Given the description of an element on the screen output the (x, y) to click on. 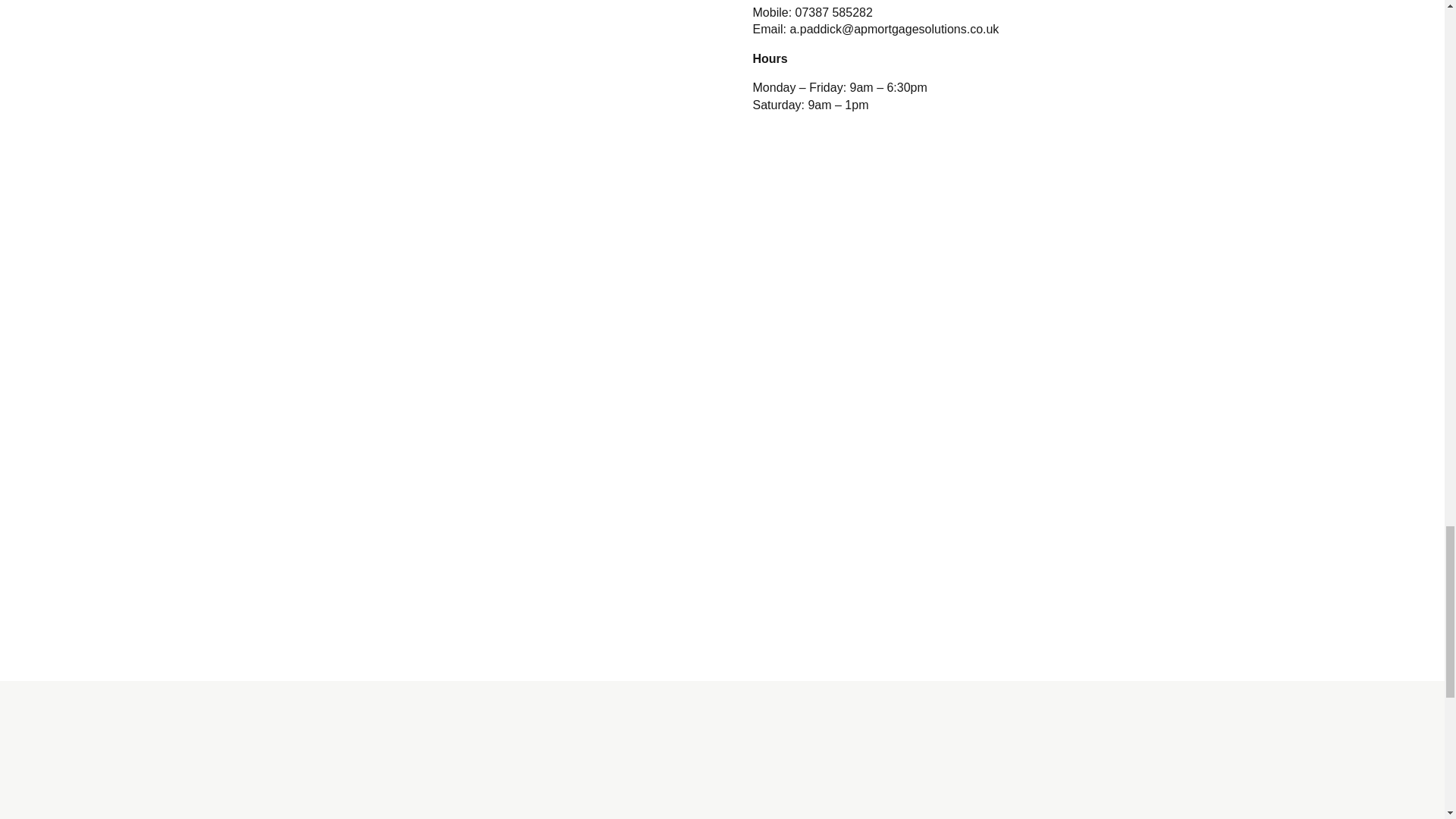
07387 585282 (833, 11)
Send (486, 556)
01246 252336 (828, 1)
